Given the description of an element on the screen output the (x, y) to click on. 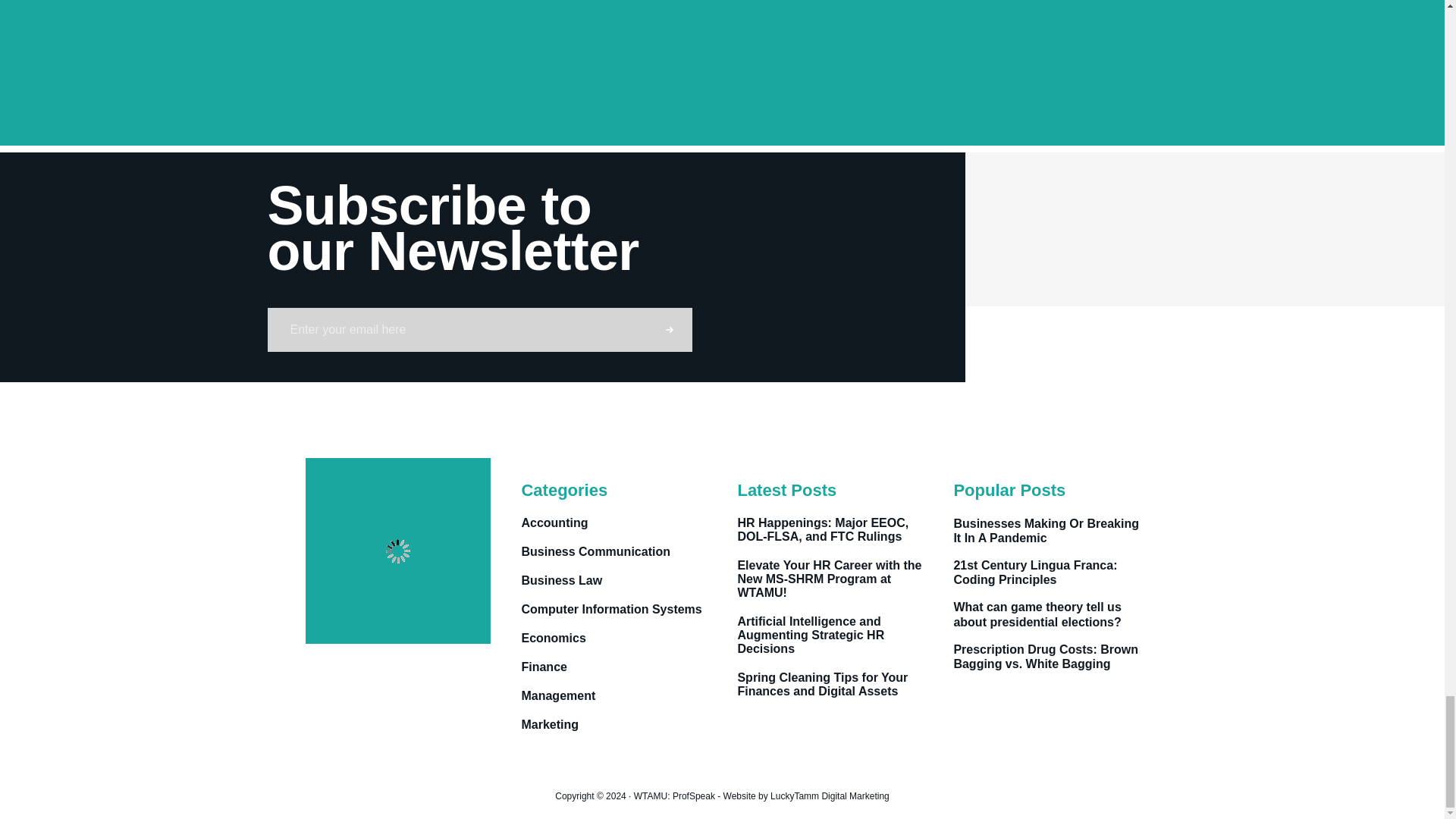
Submit (668, 329)
